Given the description of an element on the screen output the (x, y) to click on. 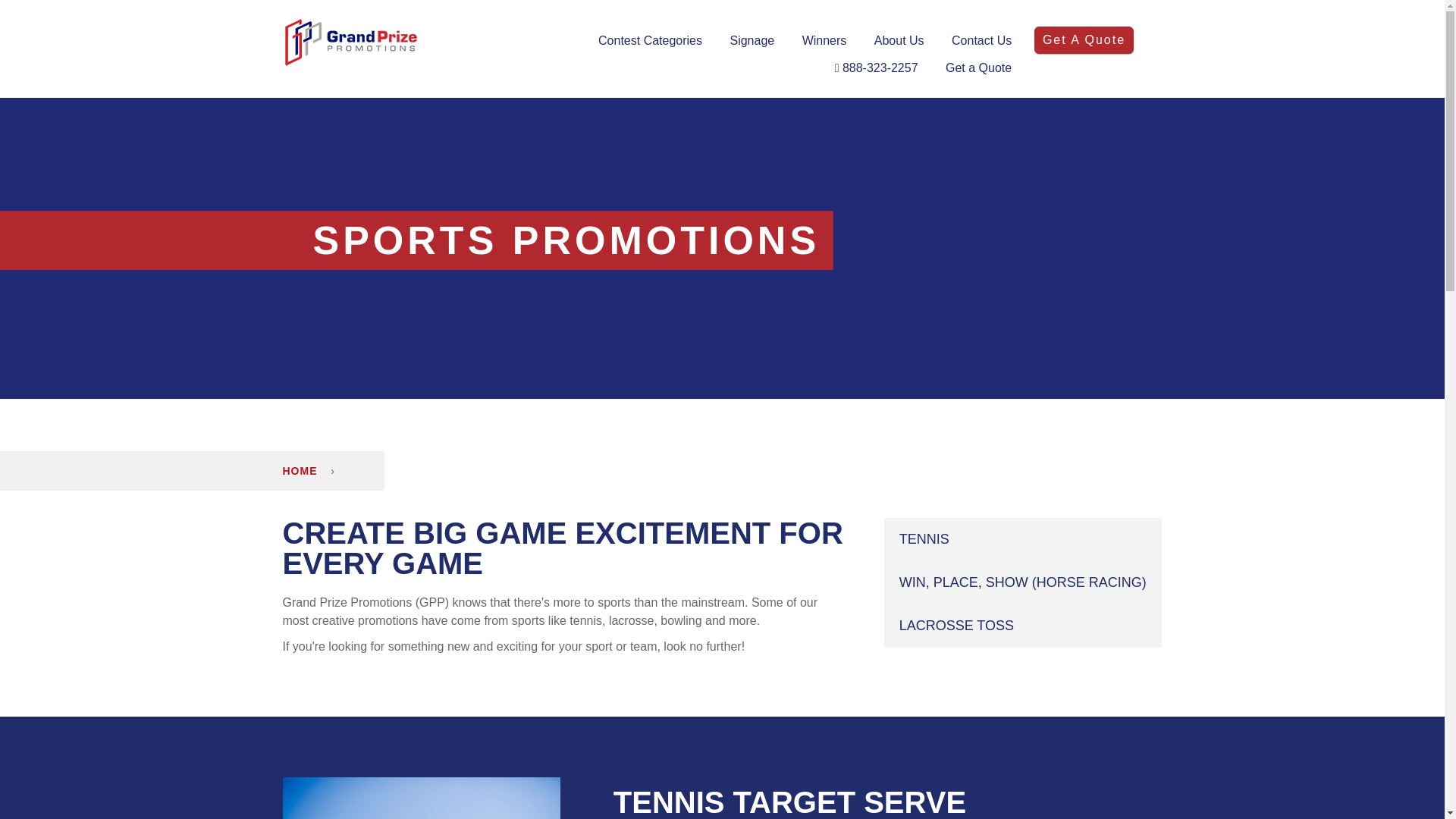
Winners (824, 41)
Get A Quote (1083, 40)
888-323-2257 (876, 68)
Signage (751, 41)
Get A Quote (1083, 40)
Contact Us (981, 41)
Tennis Serve (420, 798)
Contest Categories (649, 41)
LACROSSE TOSS (1022, 625)
About Us (899, 41)
